Given the description of an element on the screen output the (x, y) to click on. 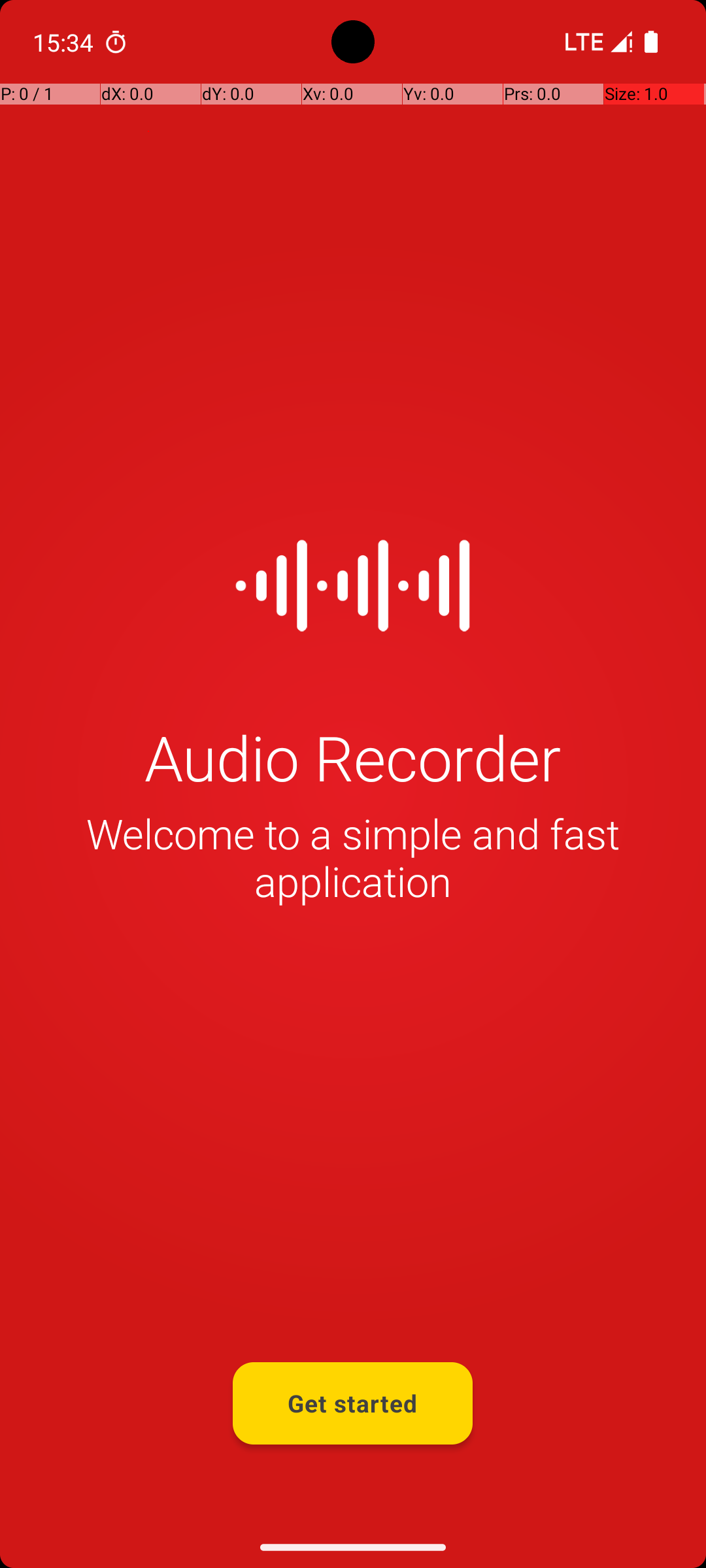
Get started Element type: android.widget.Button (352, 1403)
Audio Recorder Element type: android.widget.TextView (352, 756)
Welcome to a simple and fast application Element type: android.widget.TextView (352, 856)
Clock notification:  Element type: android.widget.ImageView (115, 41)
Phone signal full. Element type: android.widget.FrameLayout (595, 41)
